Given the description of an element on the screen output the (x, y) to click on. 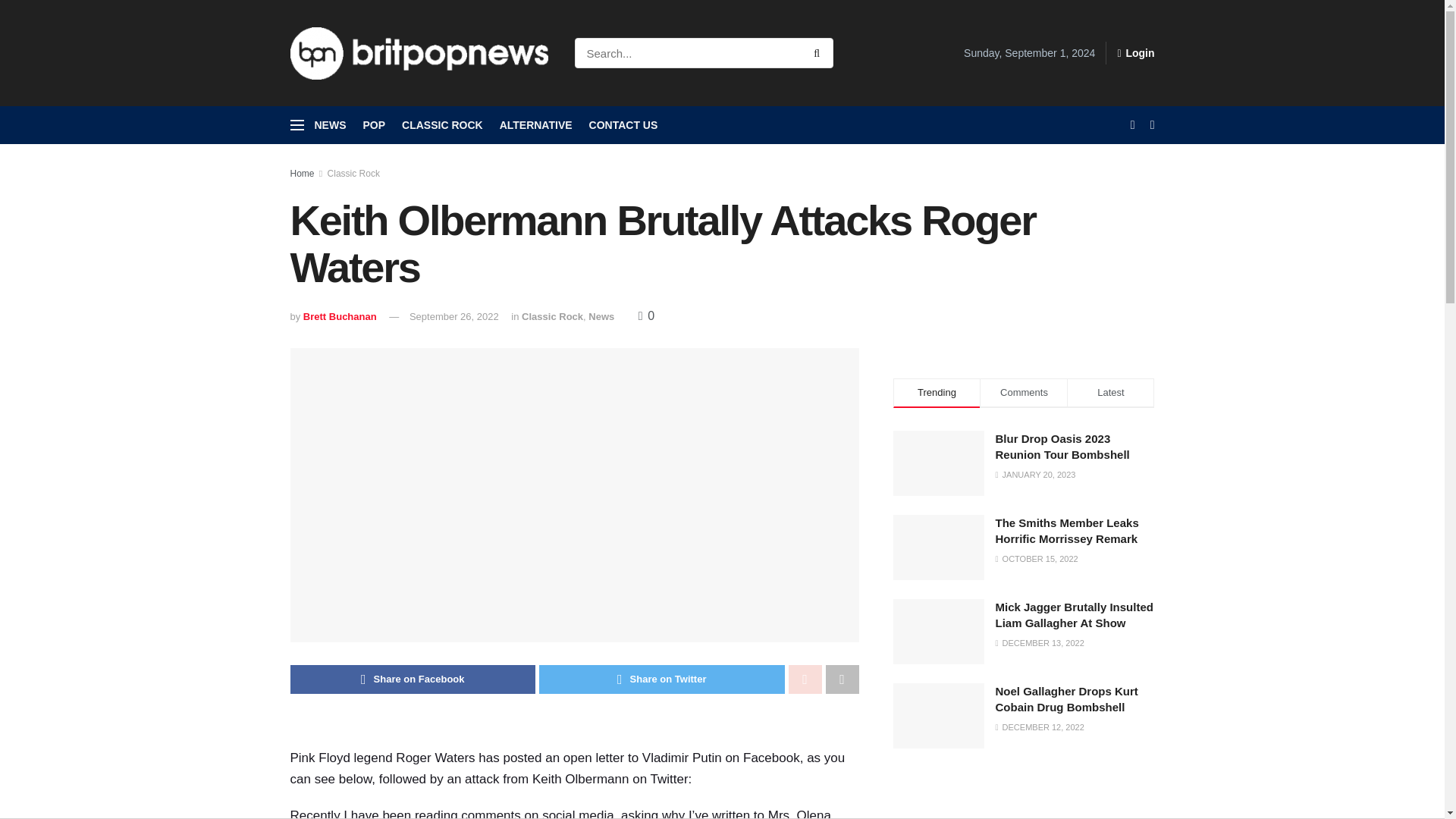
Classic Rock (353, 173)
Brett Buchanan (339, 316)
Login (1135, 53)
Home (301, 173)
0 (646, 315)
September 26, 2022 (454, 316)
Share on Facebook (412, 679)
CLASSIC ROCK (442, 125)
News (601, 316)
